Given the description of an element on the screen output the (x, y) to click on. 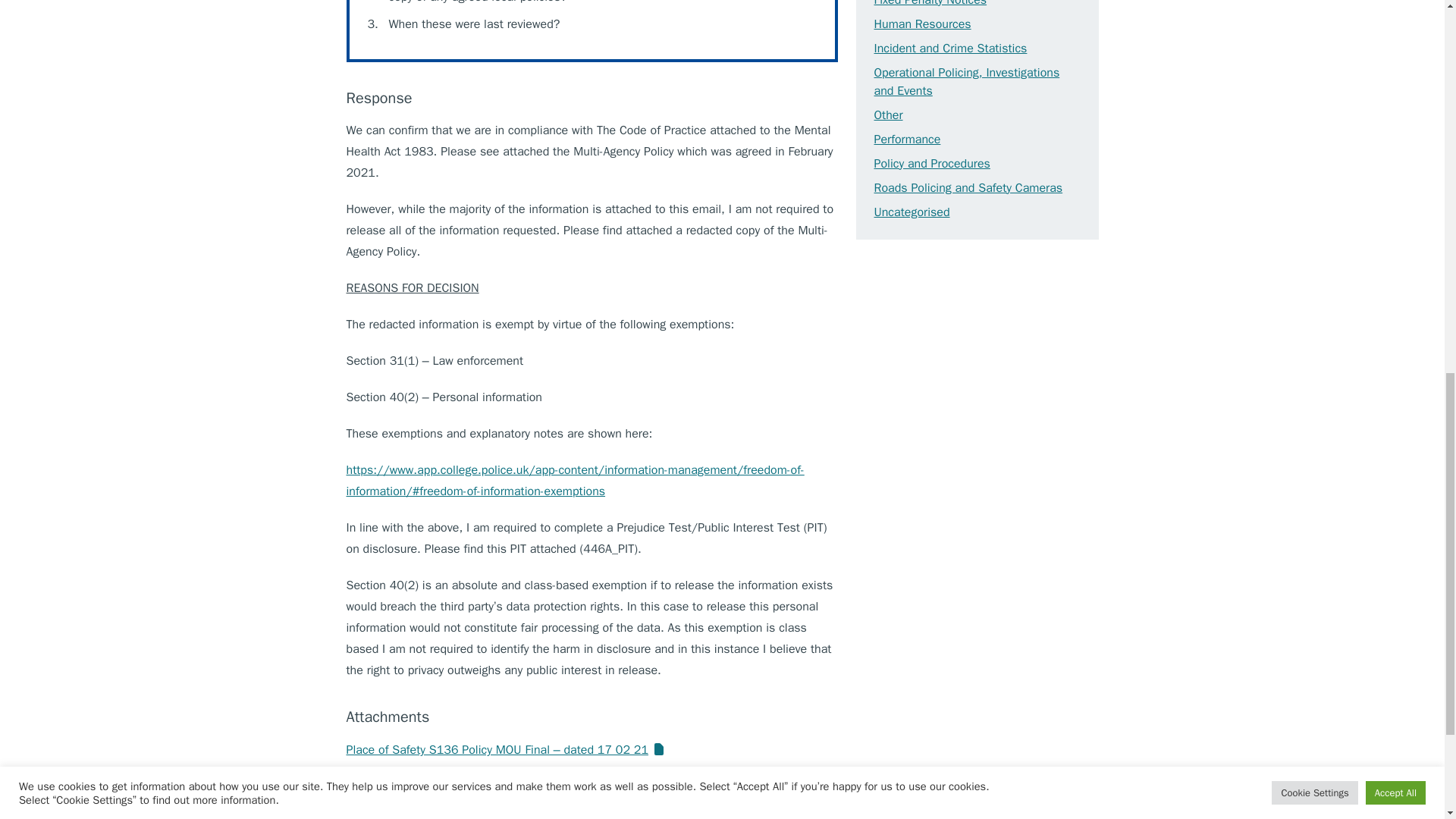
Operational Policing, Investigations and Events (966, 81)
Fixed Penalty Notices (930, 3)
Incident and Crime Statistics (949, 48)
Policy and Procedures (931, 163)
Other (887, 114)
Performance (906, 139)
Human Resources (922, 23)
